Given the description of an element on the screen output the (x, y) to click on. 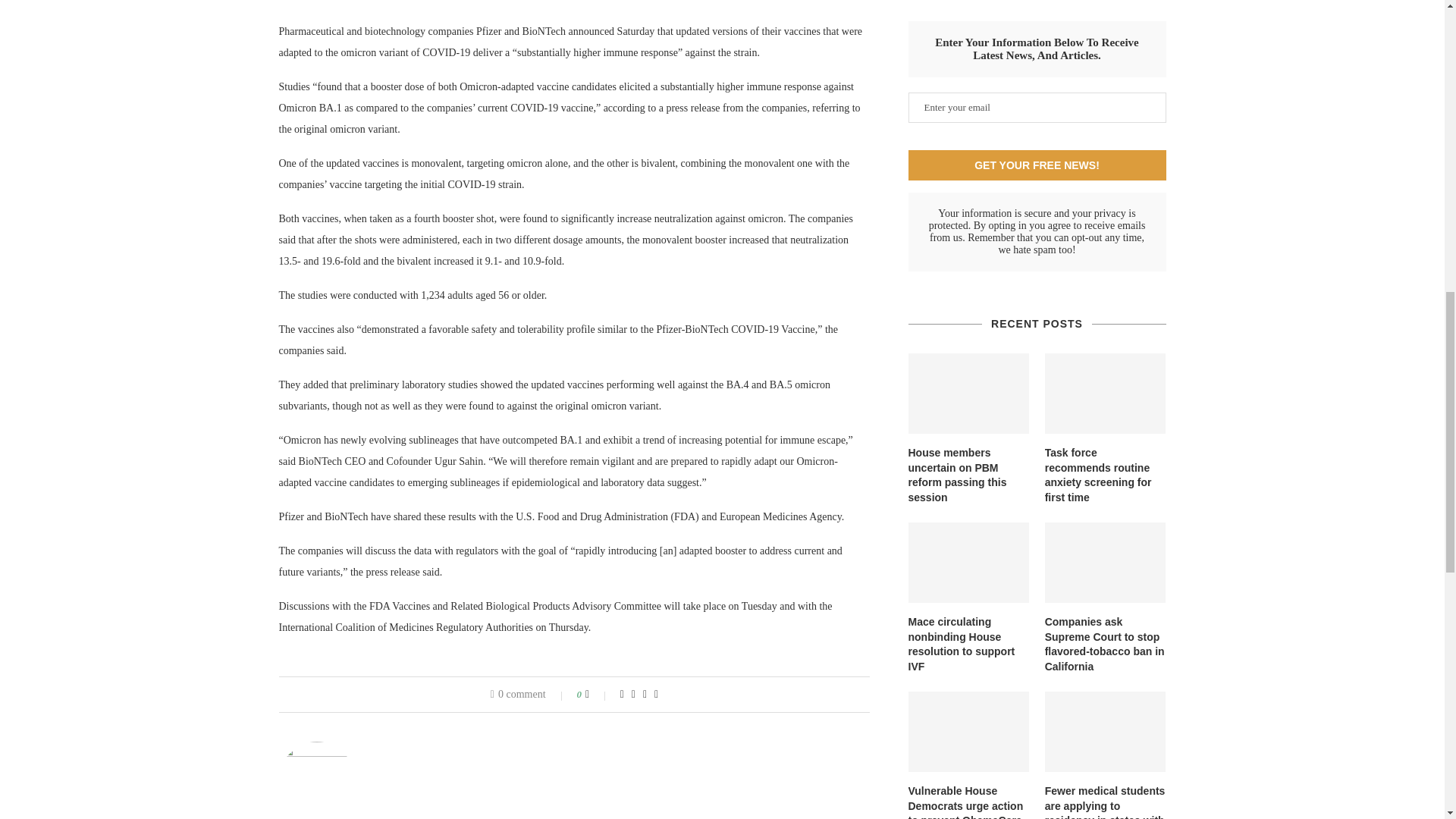
Enter your email (1037, 107)
Get Your Free News! (1037, 164)
Like (597, 694)
